Given the description of an element on the screen output the (x, y) to click on. 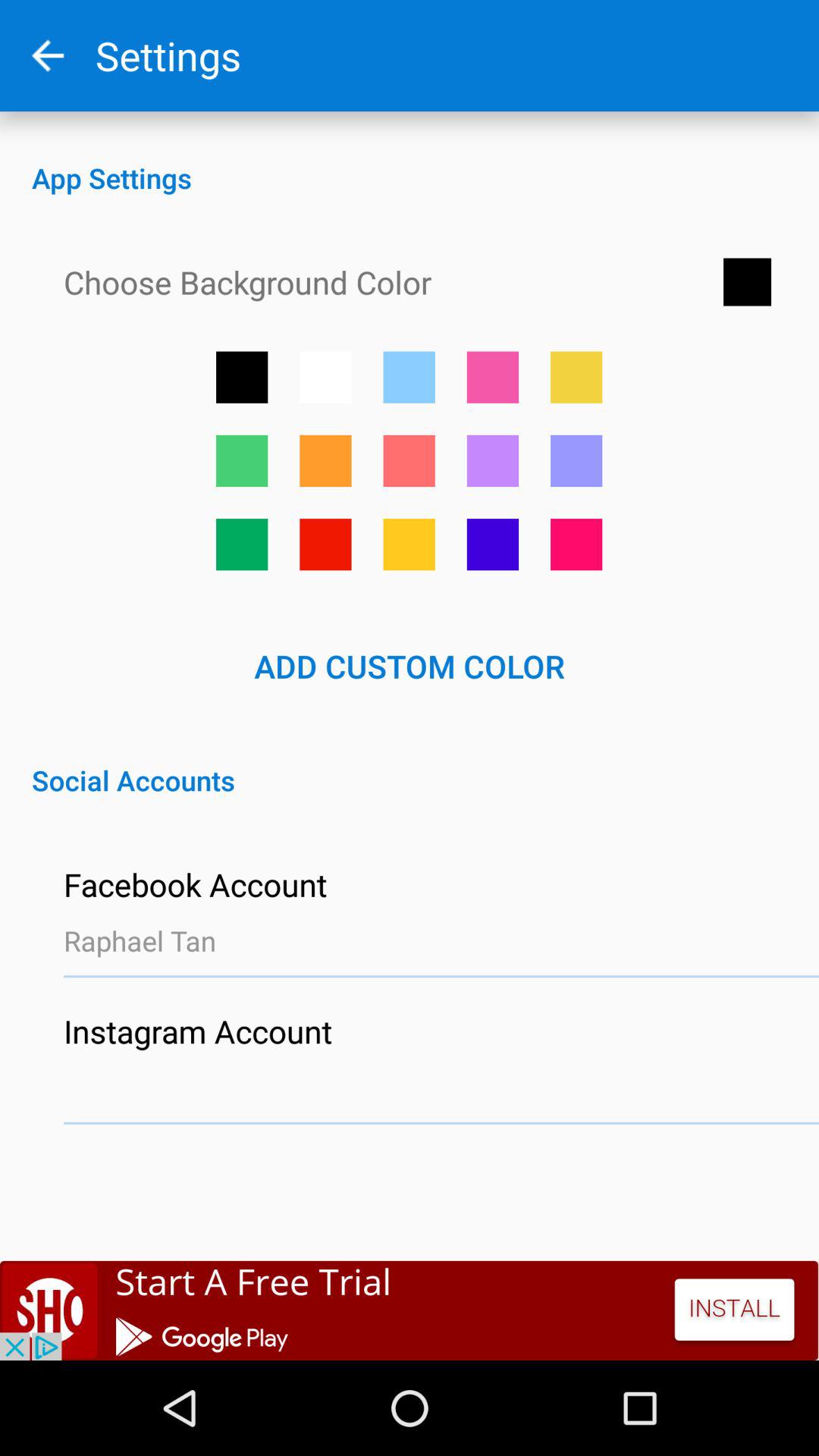
select light blue color (409, 377)
